Given the description of an element on the screen output the (x, y) to click on. 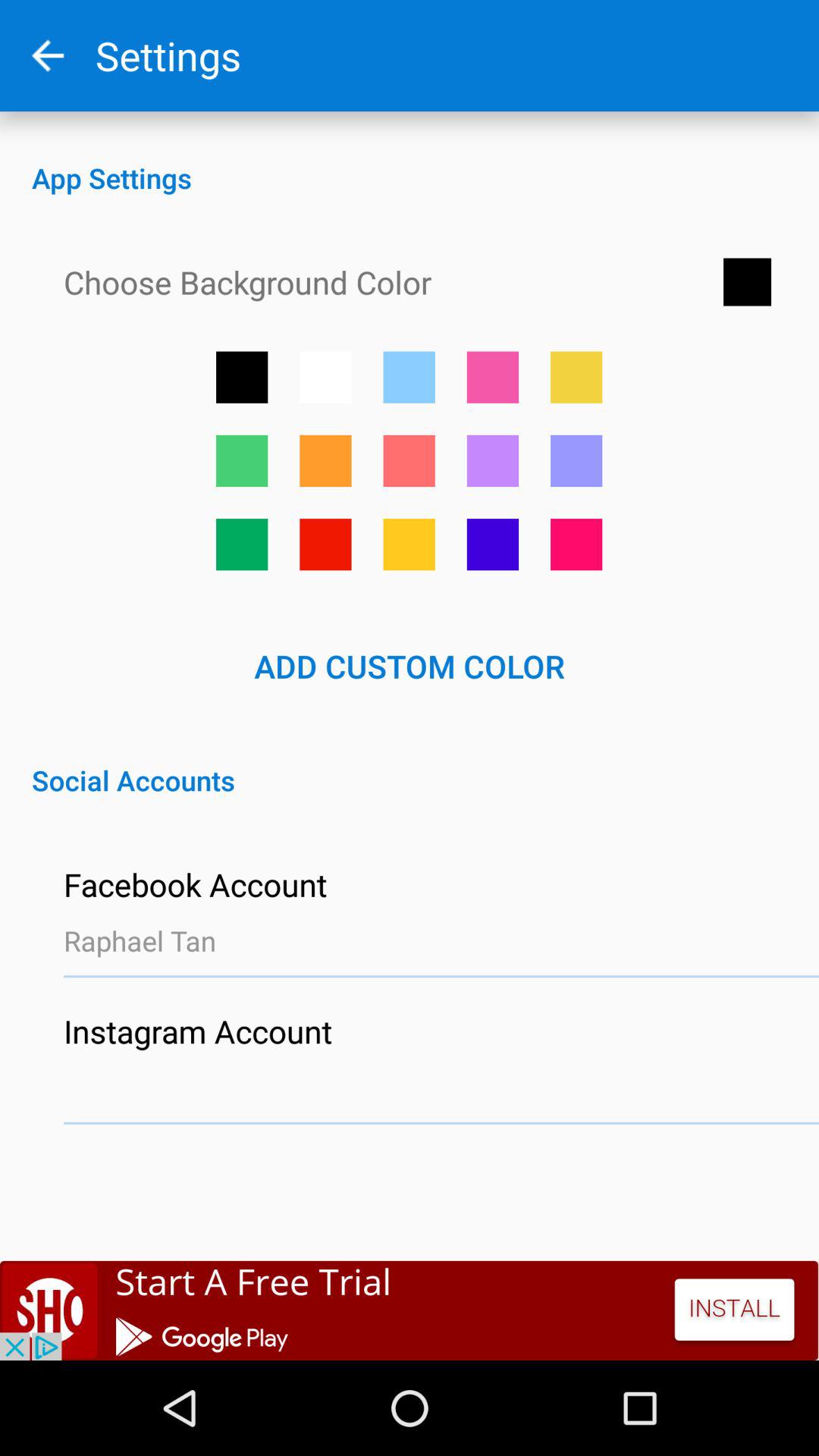
select light blue color (409, 377)
